Given the description of an element on the screen output the (x, y) to click on. 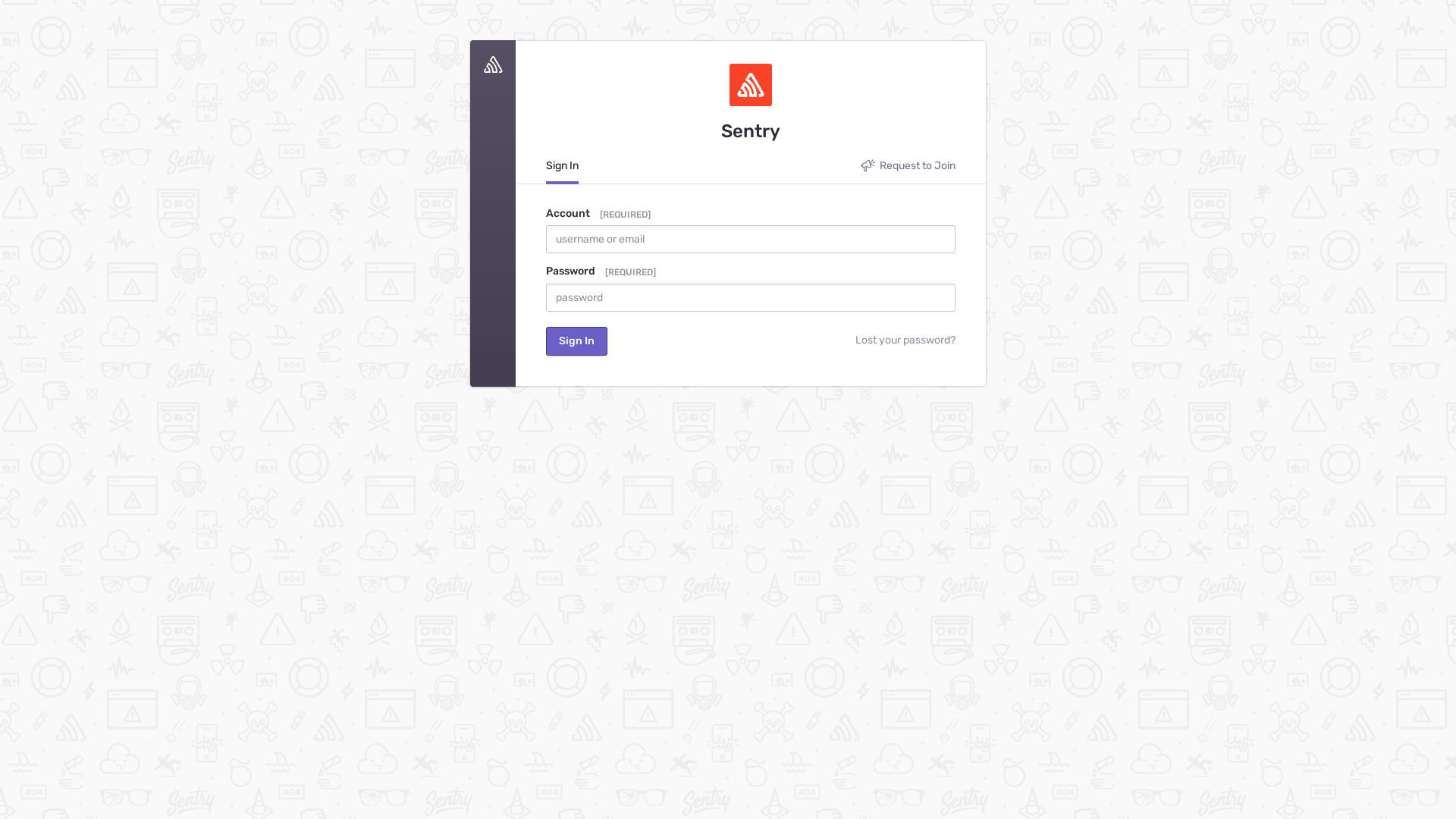
Sign In Element type: text (576, 340)
Lost your password? Element type: text (783, 340)
Request to Join Element type: text (907, 169)
Sign In Element type: text (562, 171)
